Given the description of an element on the screen output the (x, y) to click on. 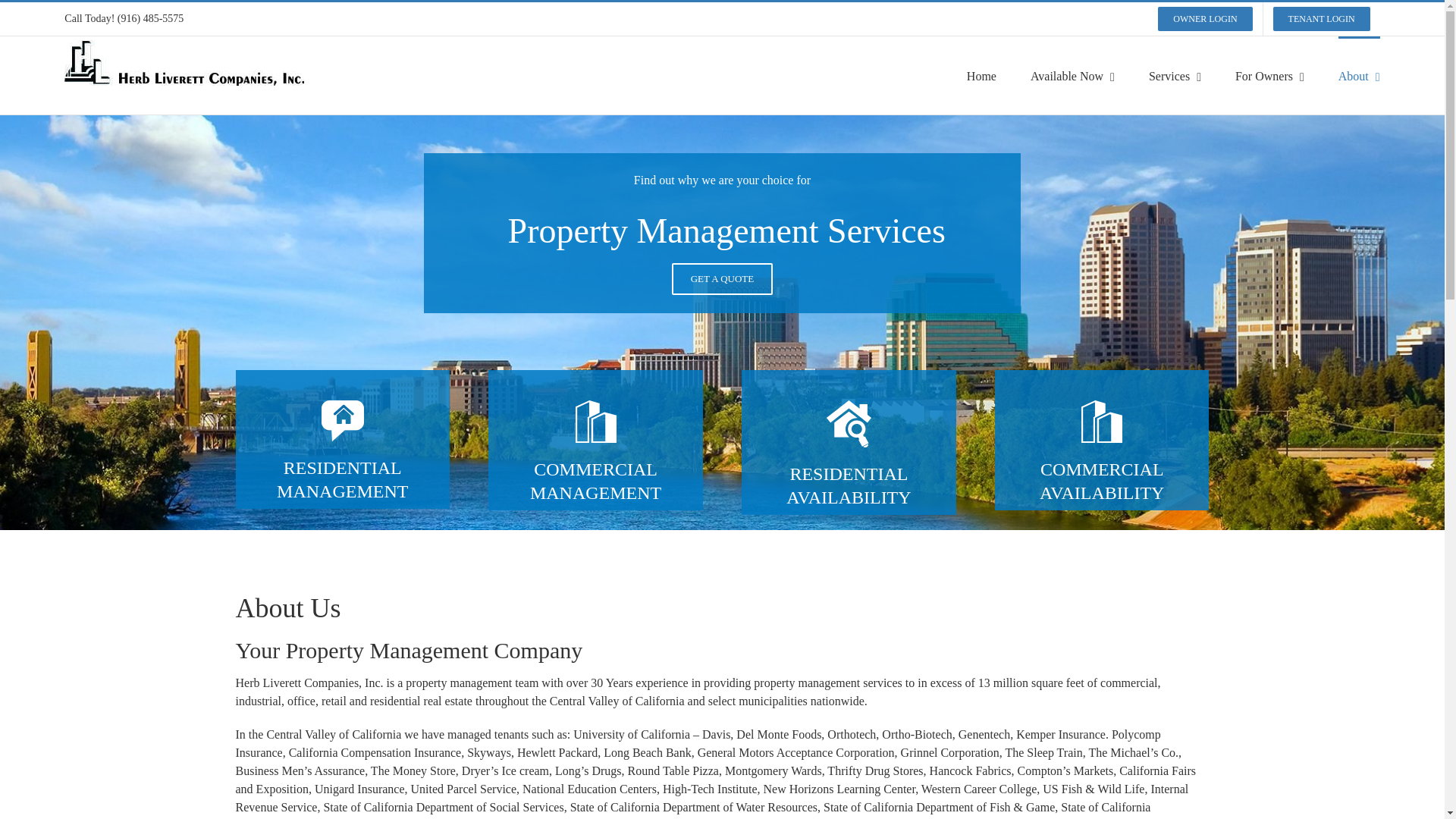
OWNER LOGIN (1205, 19)
TENANT LOGIN (1321, 19)
Available Now (1072, 75)
